Given the description of an element on the screen output the (x, y) to click on. 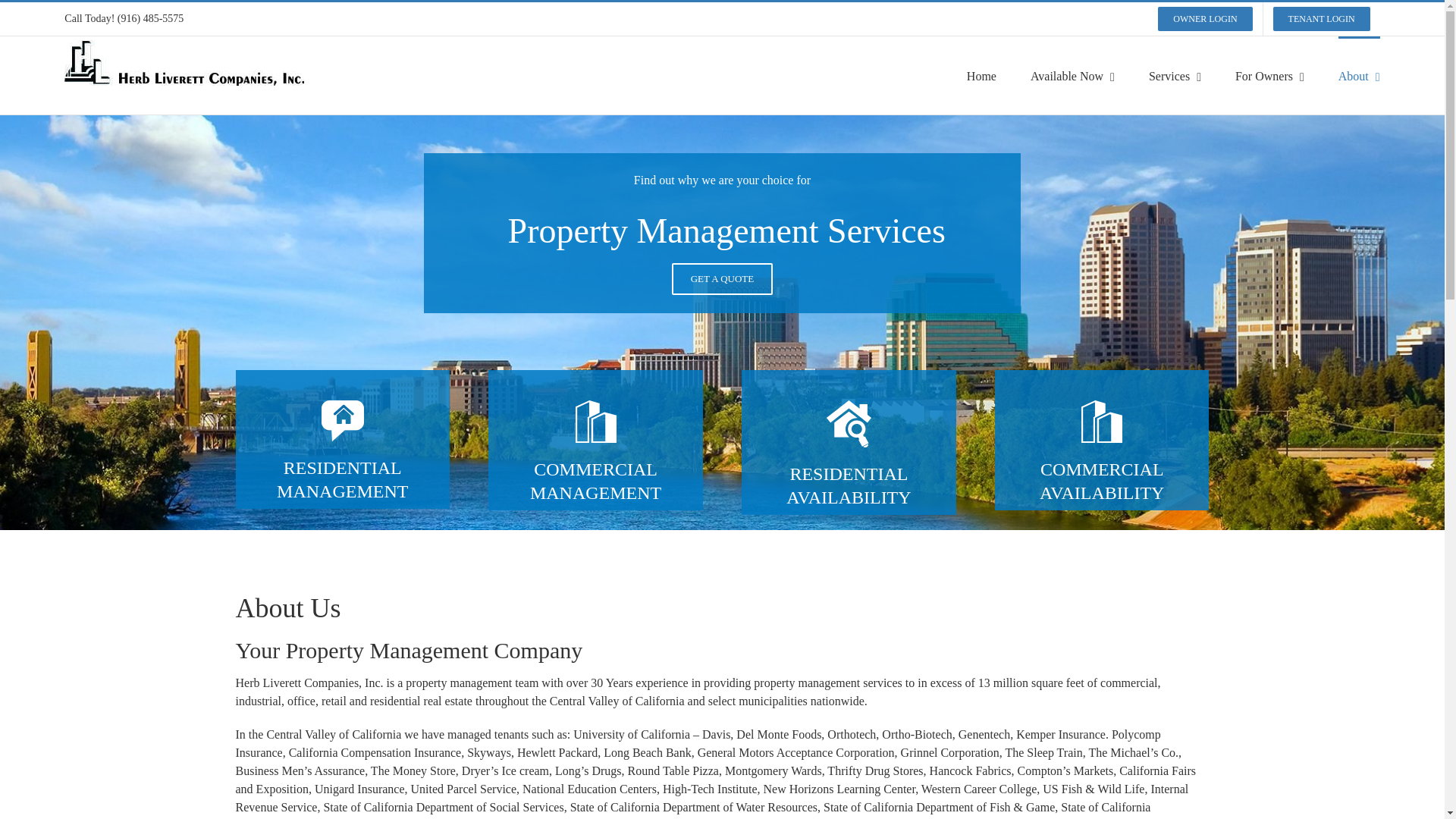
OWNER LOGIN (1205, 19)
TENANT LOGIN (1321, 19)
Available Now (1072, 75)
